Given the description of an element on the screen output the (x, y) to click on. 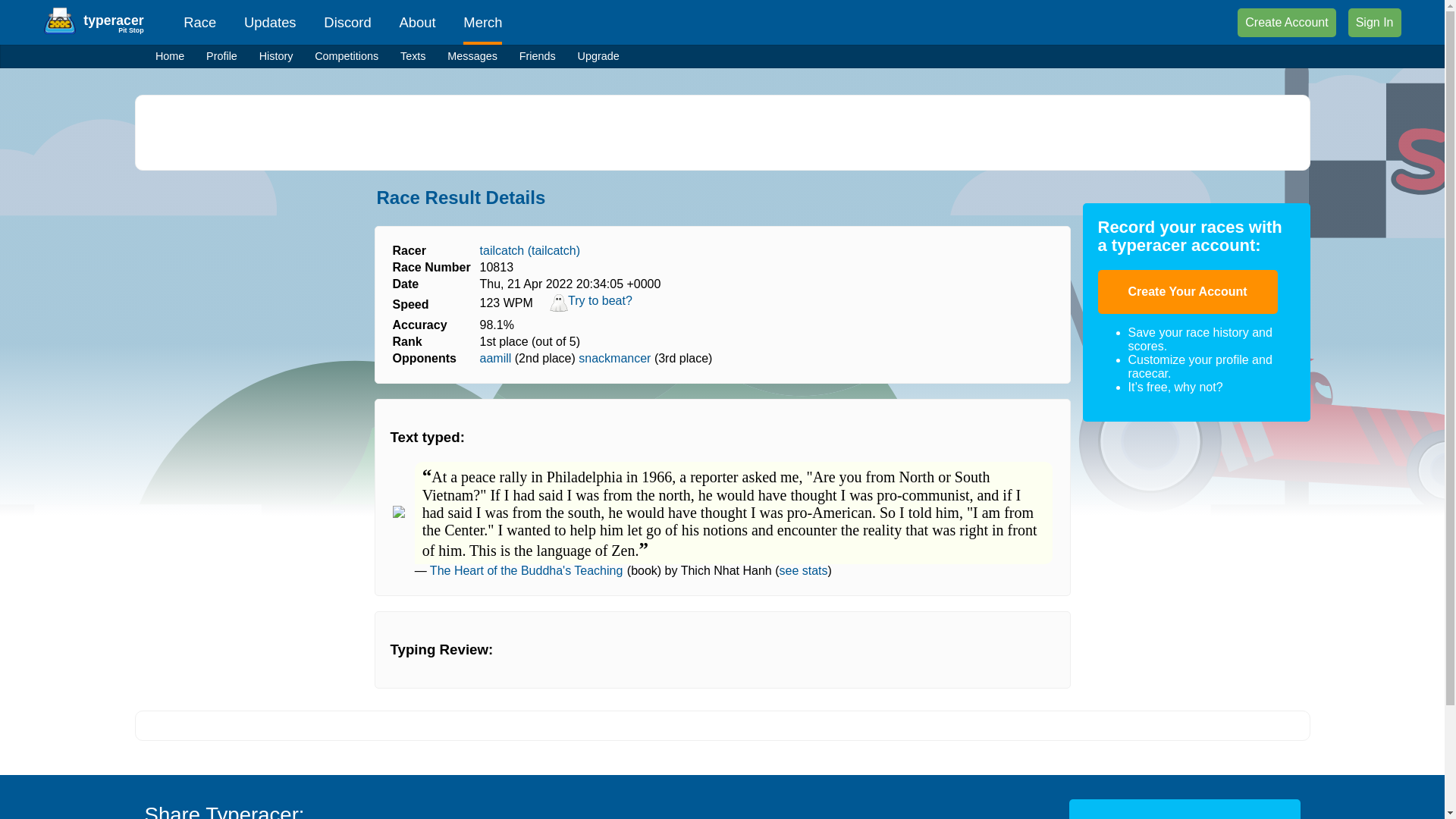
Home (169, 56)
You can try to beat this score in ghost racing mode. (590, 308)
typeracer (112, 20)
History (275, 56)
snackmancer (614, 358)
Try to beat? (590, 308)
aamill (496, 358)
Messages (472, 56)
Texts (413, 56)
Sign In (1374, 22)
